Given the description of an element on the screen output the (x, y) to click on. 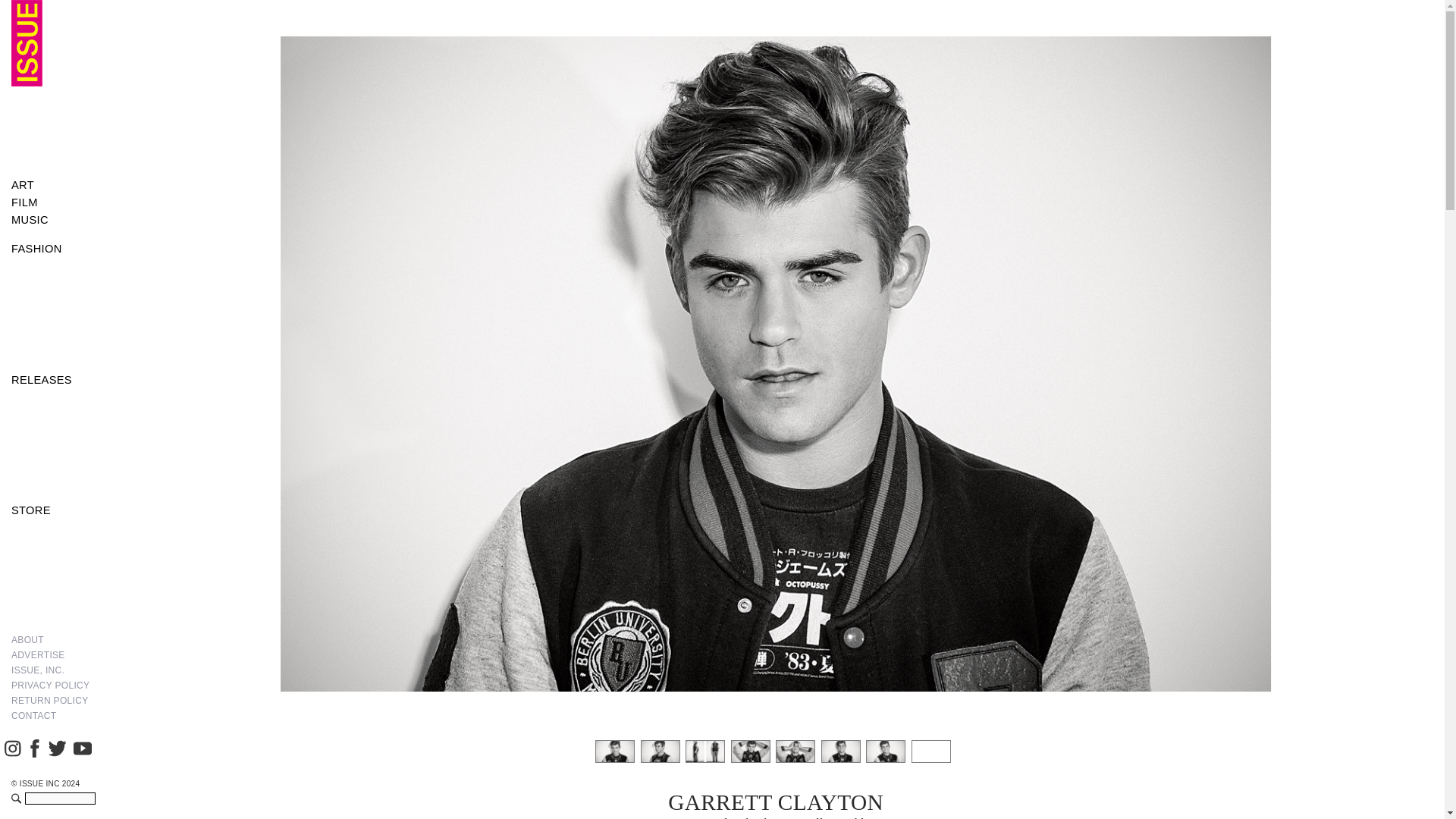
RELEASES (53, 380)
STORE (53, 510)
ART (53, 185)
MUSIC (53, 220)
FILM (53, 202)
FASHION (53, 248)
